Given the description of an element on the screen output the (x, y) to click on. 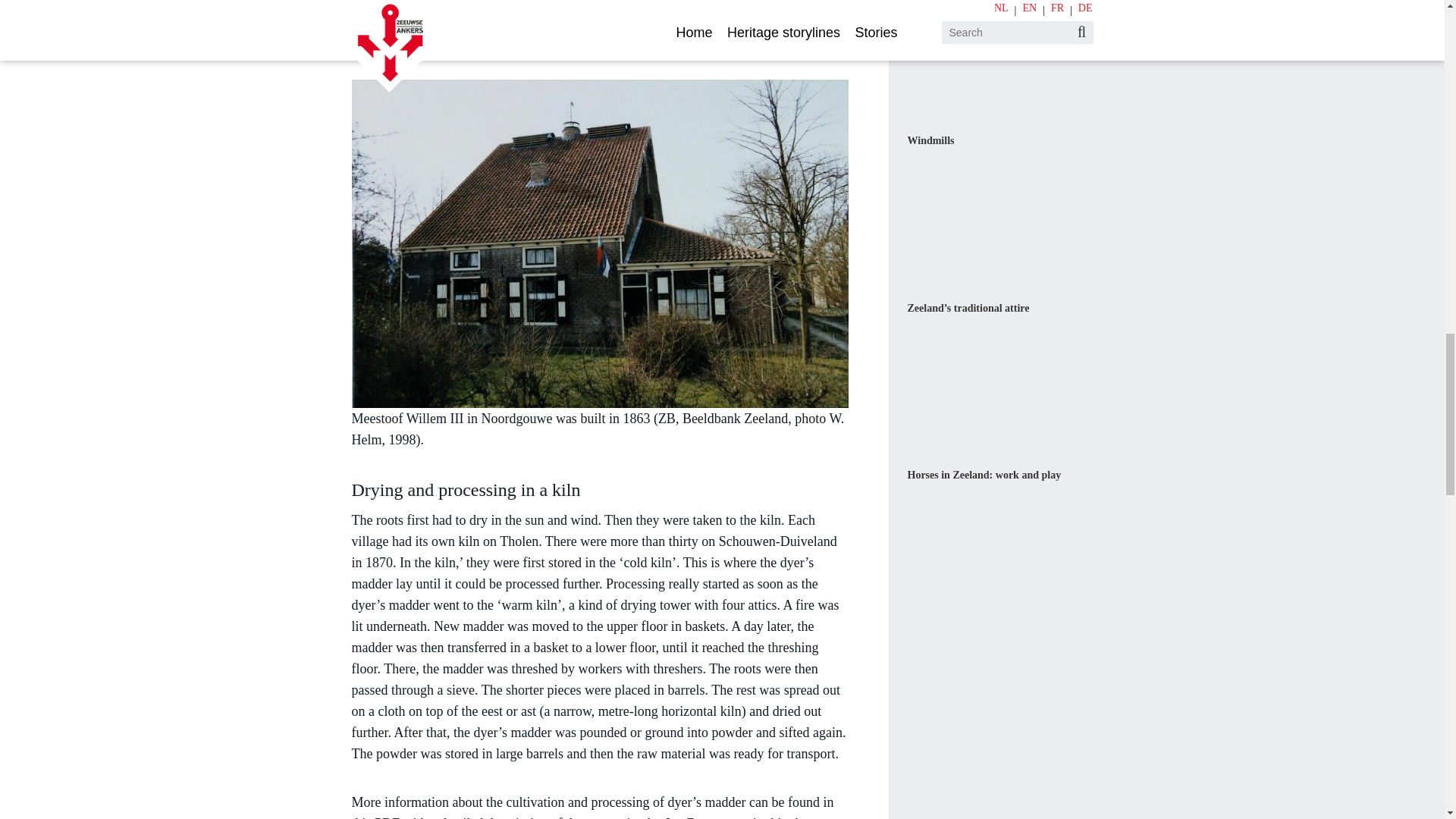
Windmills (930, 140)
Horses in Zeeland: work and play (984, 474)
